Given the description of an element on the screen output the (x, y) to click on. 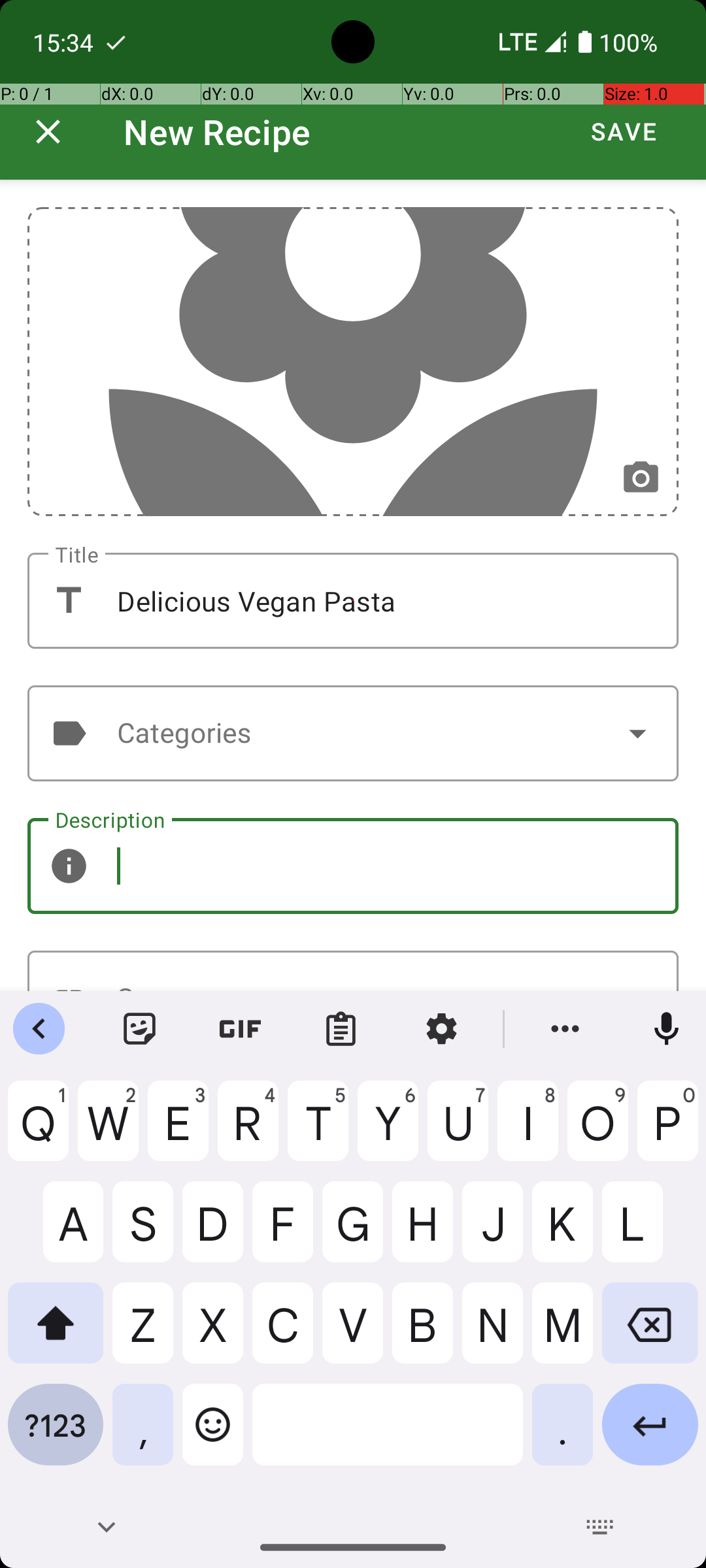
Delicious Vegan Pasta Element type: android.widget.EditText (352, 600)
